Given the description of an element on the screen output the (x, y) to click on. 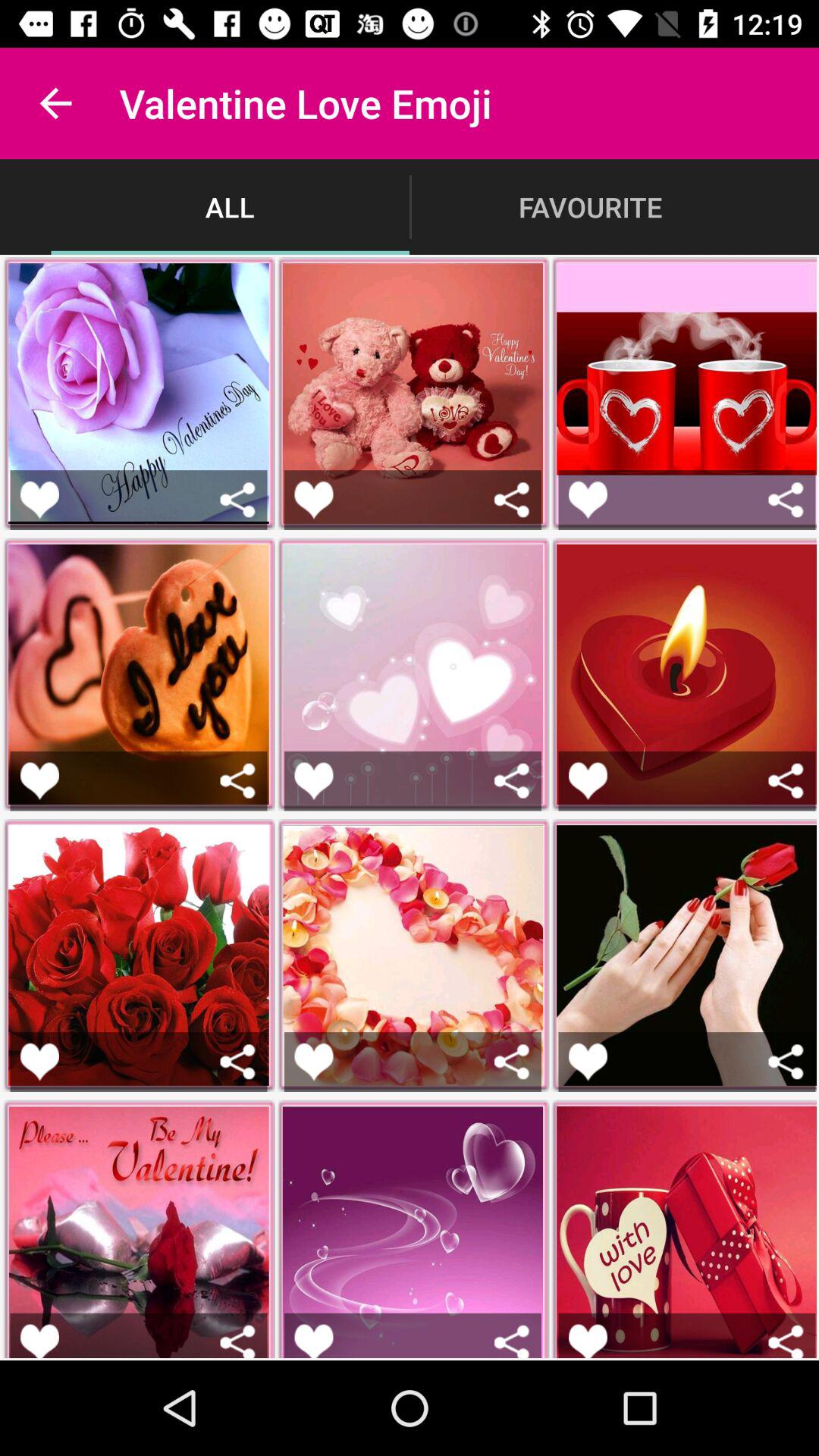
share roses (237, 1061)
